Given the description of an element on the screen output the (x, y) to click on. 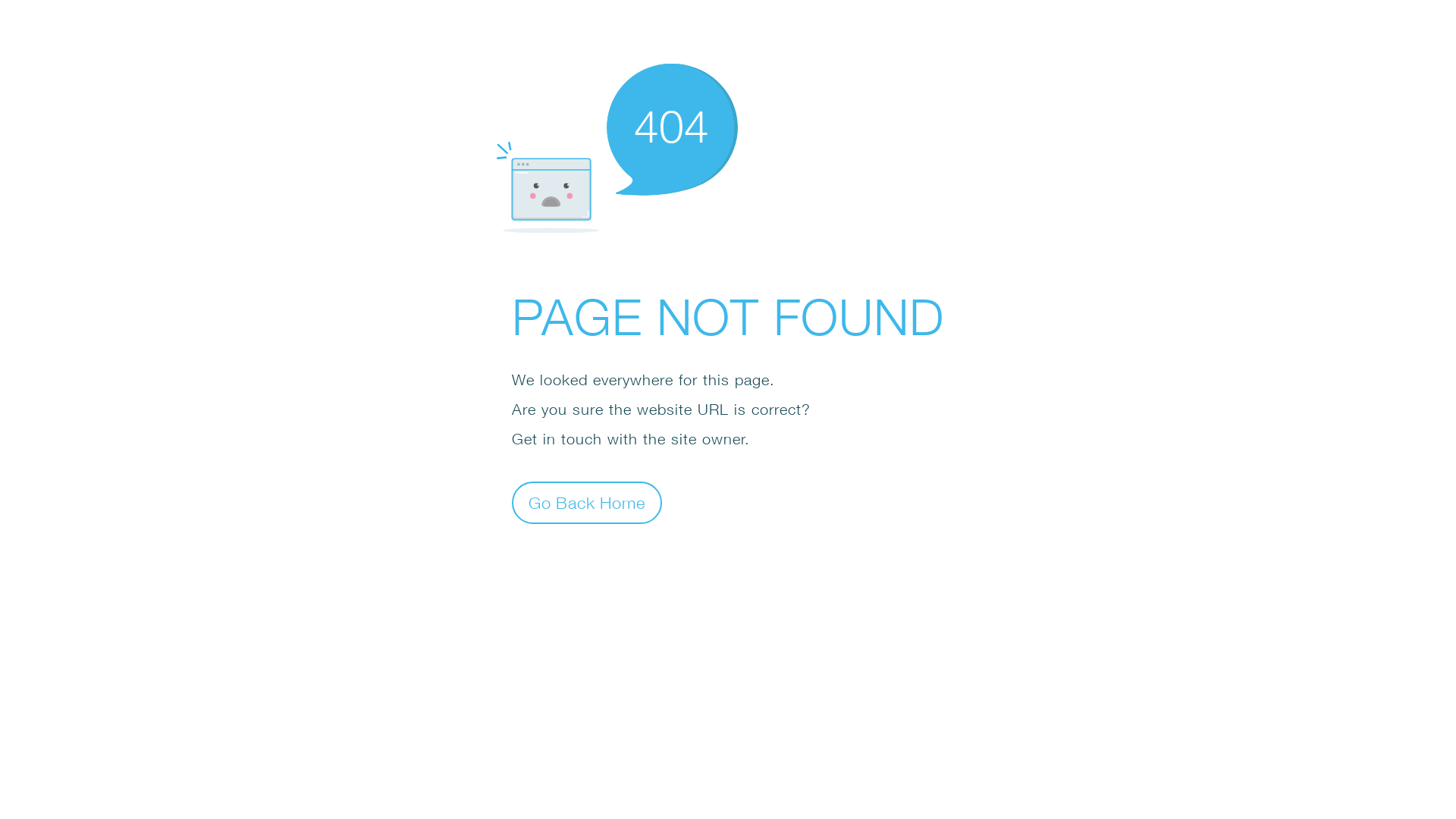
Go Back Home Element type: text (586, 502)
